Given the description of an element on the screen output the (x, y) to click on. 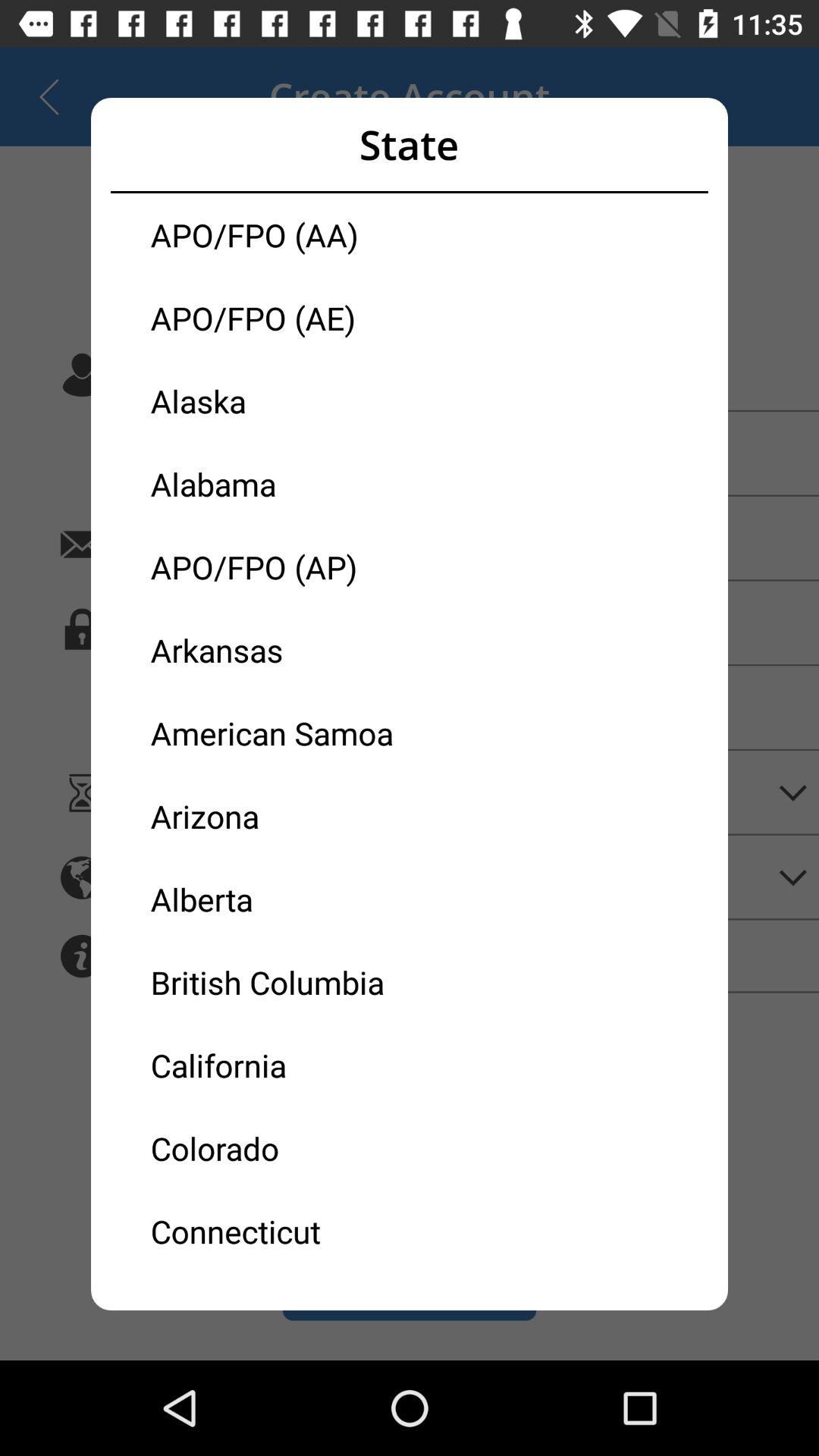
tap icon above the california (279, 981)
